Given the description of an element on the screen output the (x, y) to click on. 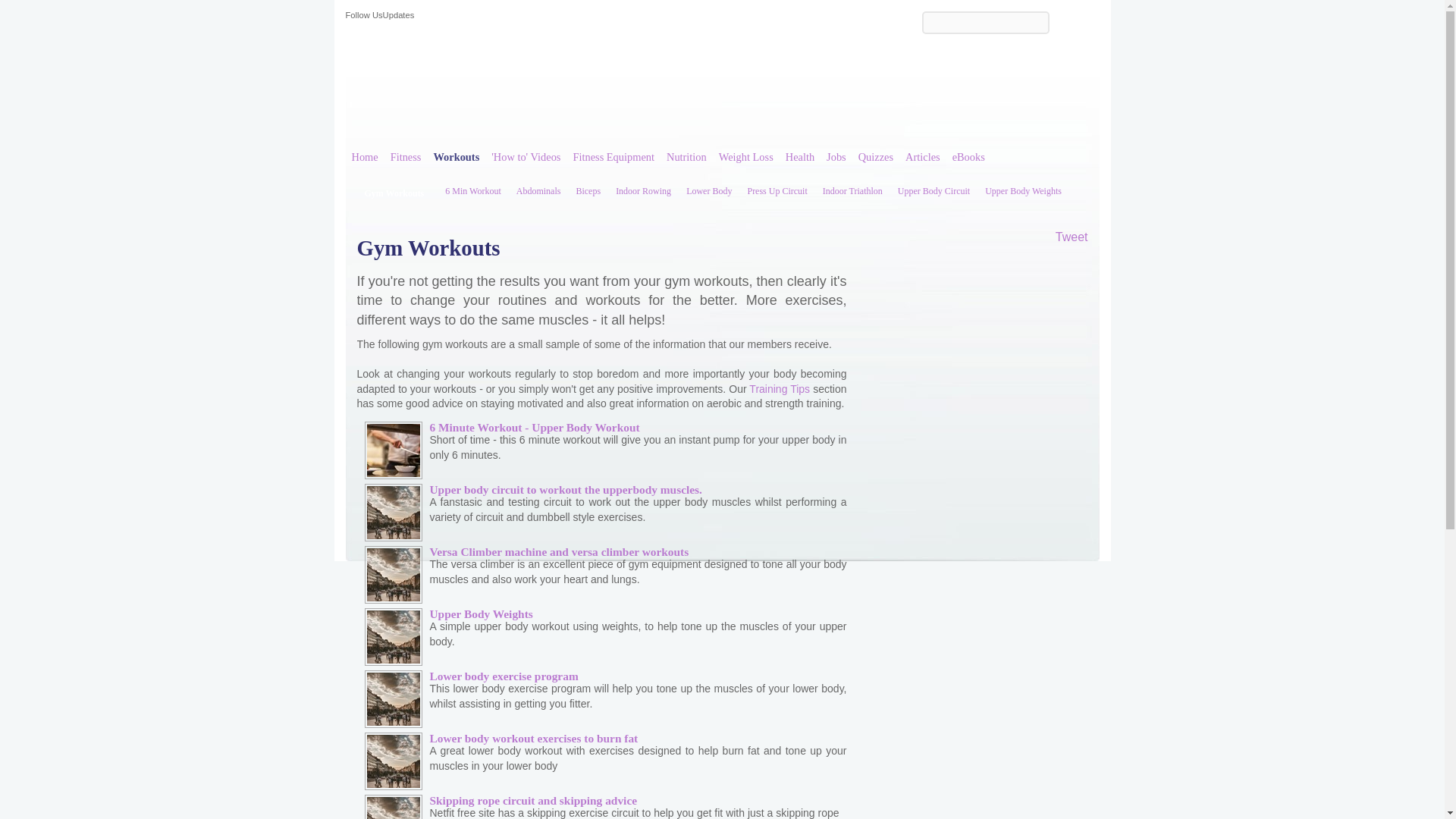
Upper body circuit to workout the upperbody muscles. (565, 489)
Gym Workouts (397, 192)
Health (799, 149)
Tweet (1071, 236)
Fitness Equipment (613, 149)
Lower body exercise program (503, 675)
Nutrition (687, 149)
Press Up Circuit (776, 186)
Fitness (406, 149)
eBooks (968, 149)
